Given the description of an element on the screen output the (x, y) to click on. 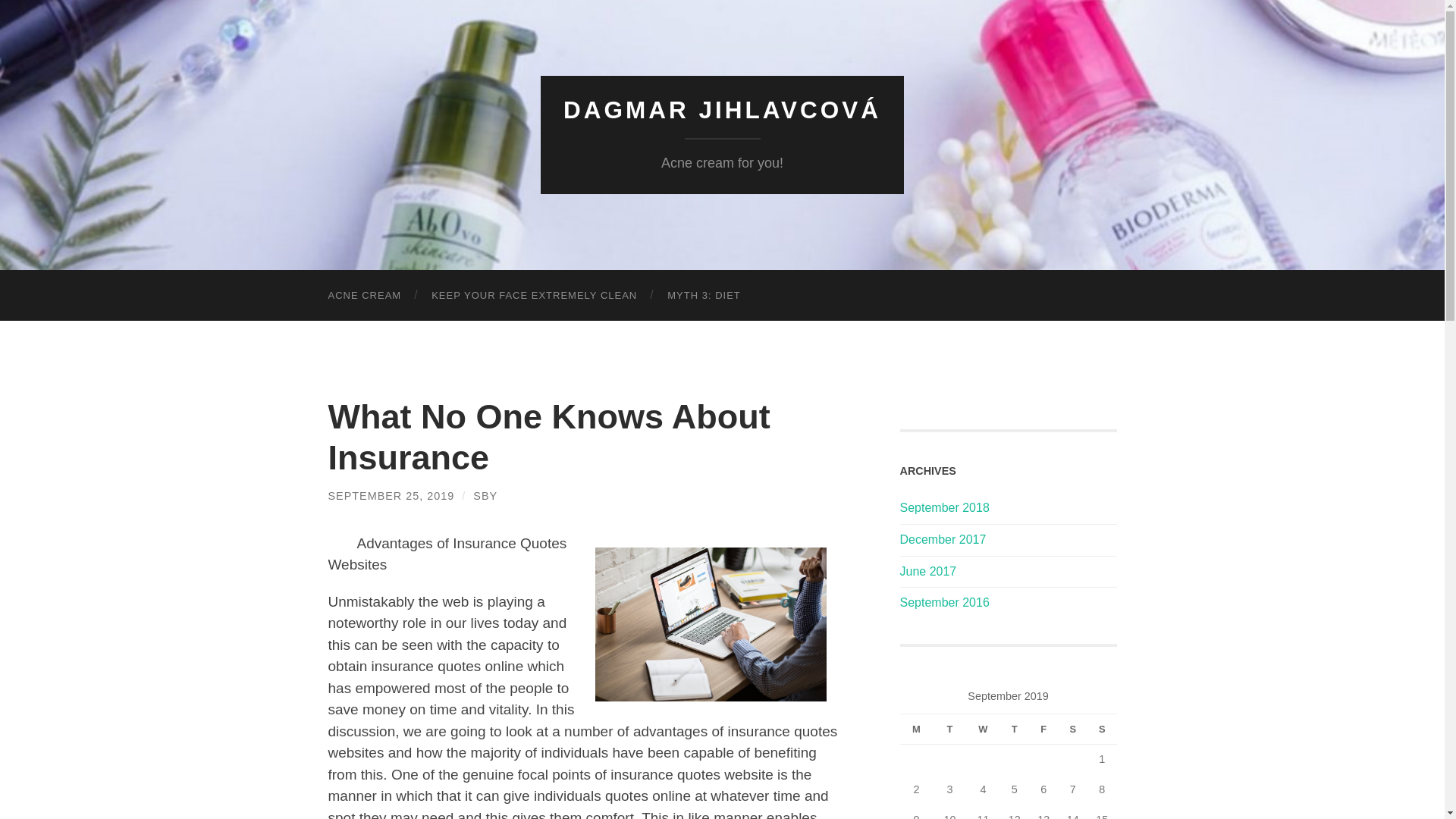
KEEP YOUR FACE EXTREMELY CLEAN (534, 295)
Sunday (1101, 728)
Posts by sby (485, 495)
Friday (1043, 728)
ACNE CREAM (364, 295)
Wednesday (982, 728)
MYTH 3: DIET (703, 295)
SBY (485, 495)
Thursday (1013, 728)
Tuesday (949, 728)
September 2018 (943, 507)
December 2017 (942, 539)
June 2017 (927, 571)
Saturday (1072, 728)
SEPTEMBER 25, 2019 (390, 495)
